Given the description of an element on the screen output the (x, y) to click on. 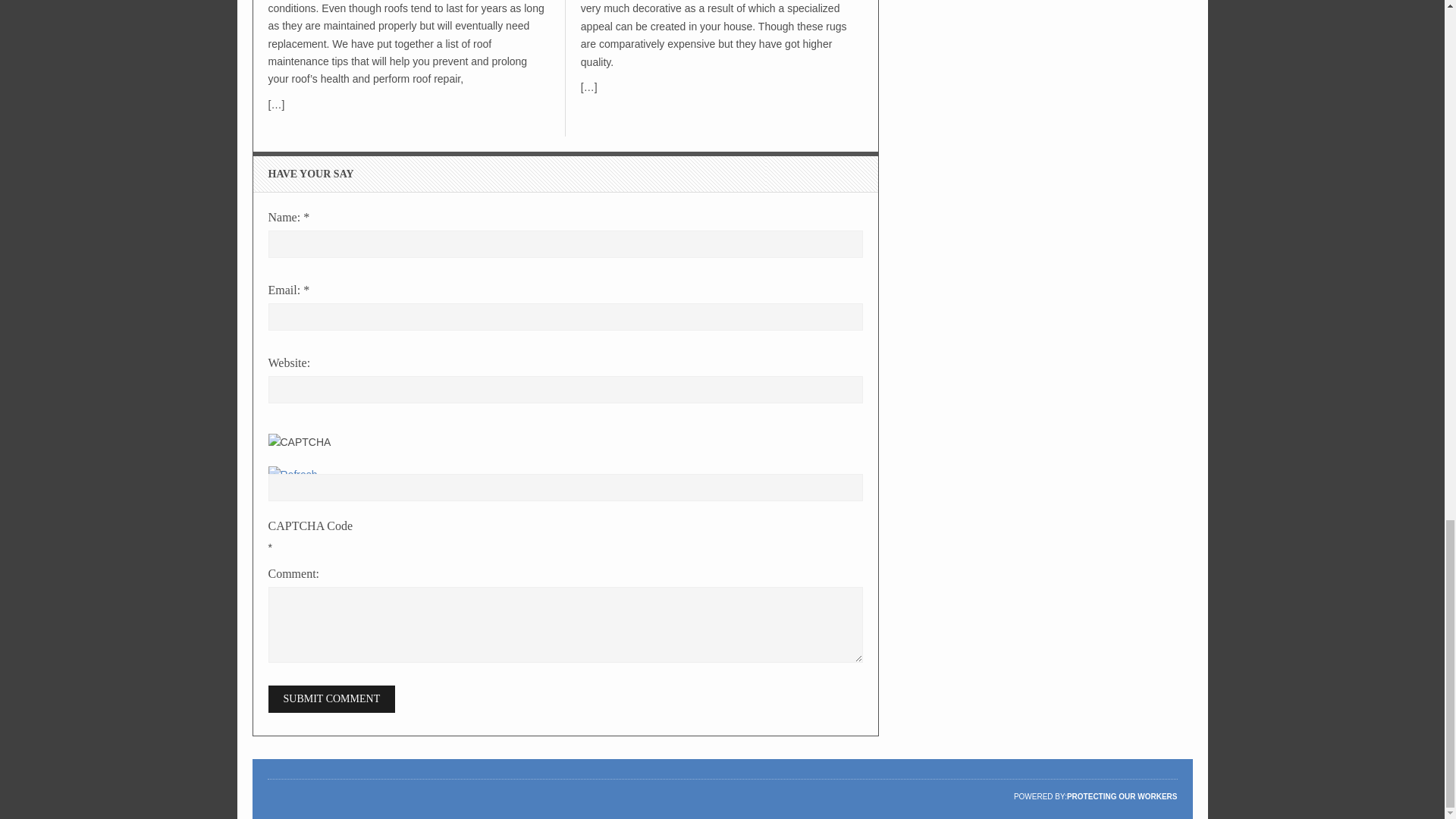
Submit Comment (331, 698)
Refresh (292, 474)
CAPTCHA (317, 450)
Submit Comment (331, 698)
